Given the description of an element on the screen output the (x, y) to click on. 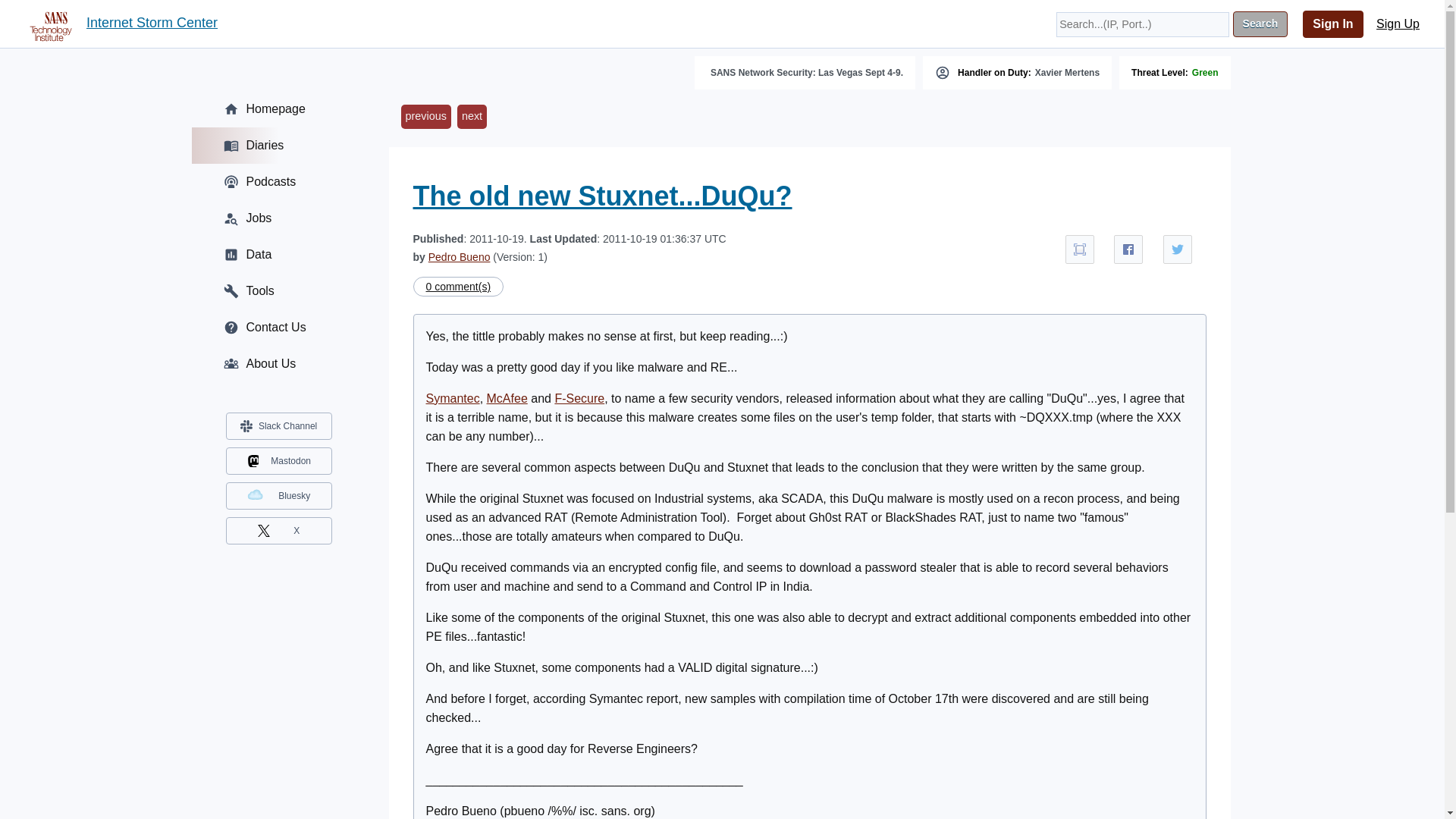
Sign In (1332, 24)
Search (1260, 23)
Xavier Mertens (1067, 72)
F-Secure (579, 398)
Share on Twitter (1177, 249)
next (471, 116)
Pedro Bueno (459, 256)
Podcasts (277, 181)
Homepage (277, 108)
McAfee (506, 398)
